Given the description of an element on the screen output the (x, y) to click on. 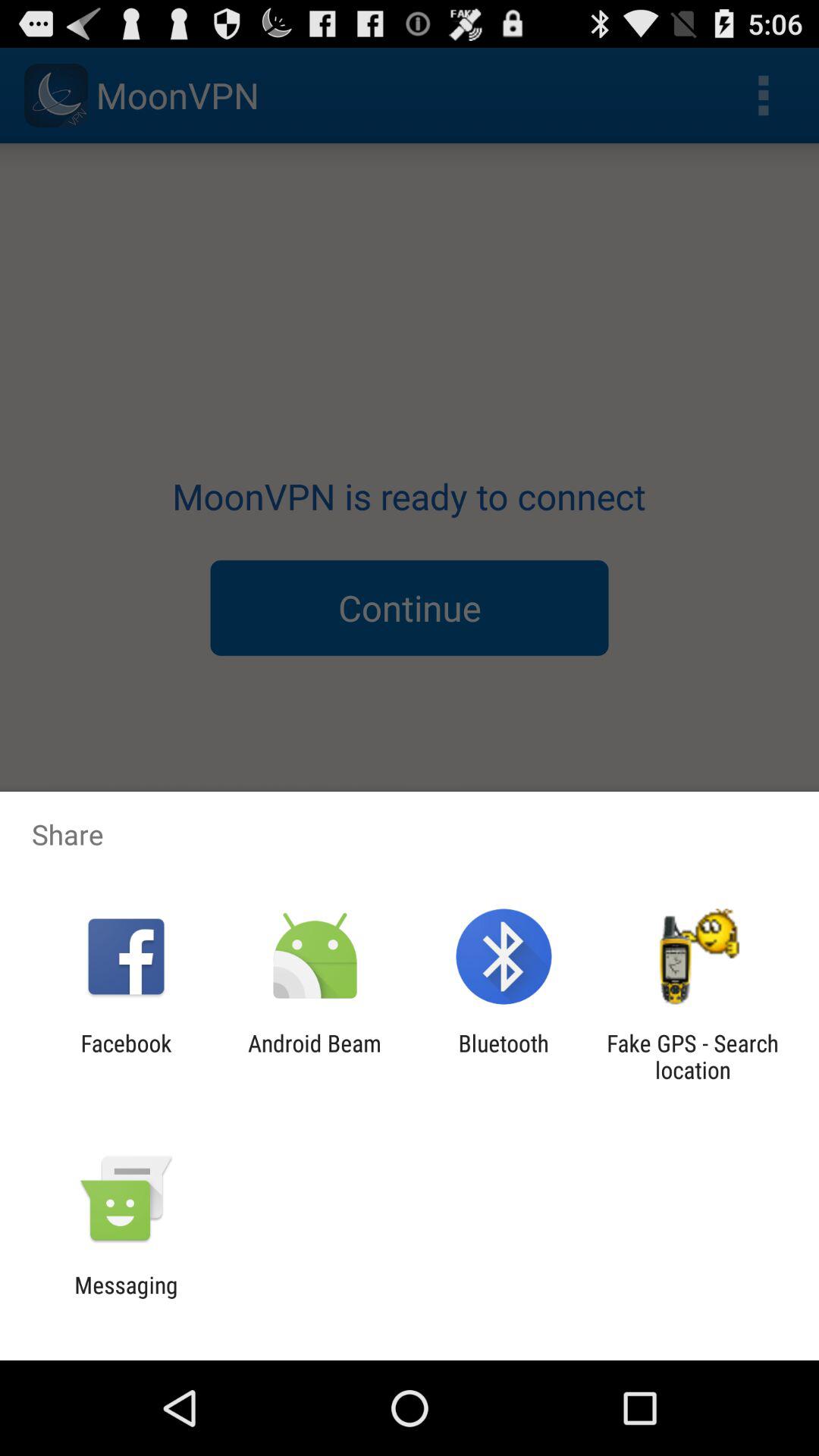
click item next to fake gps search item (503, 1056)
